Given the description of an element on the screen output the (x, y) to click on. 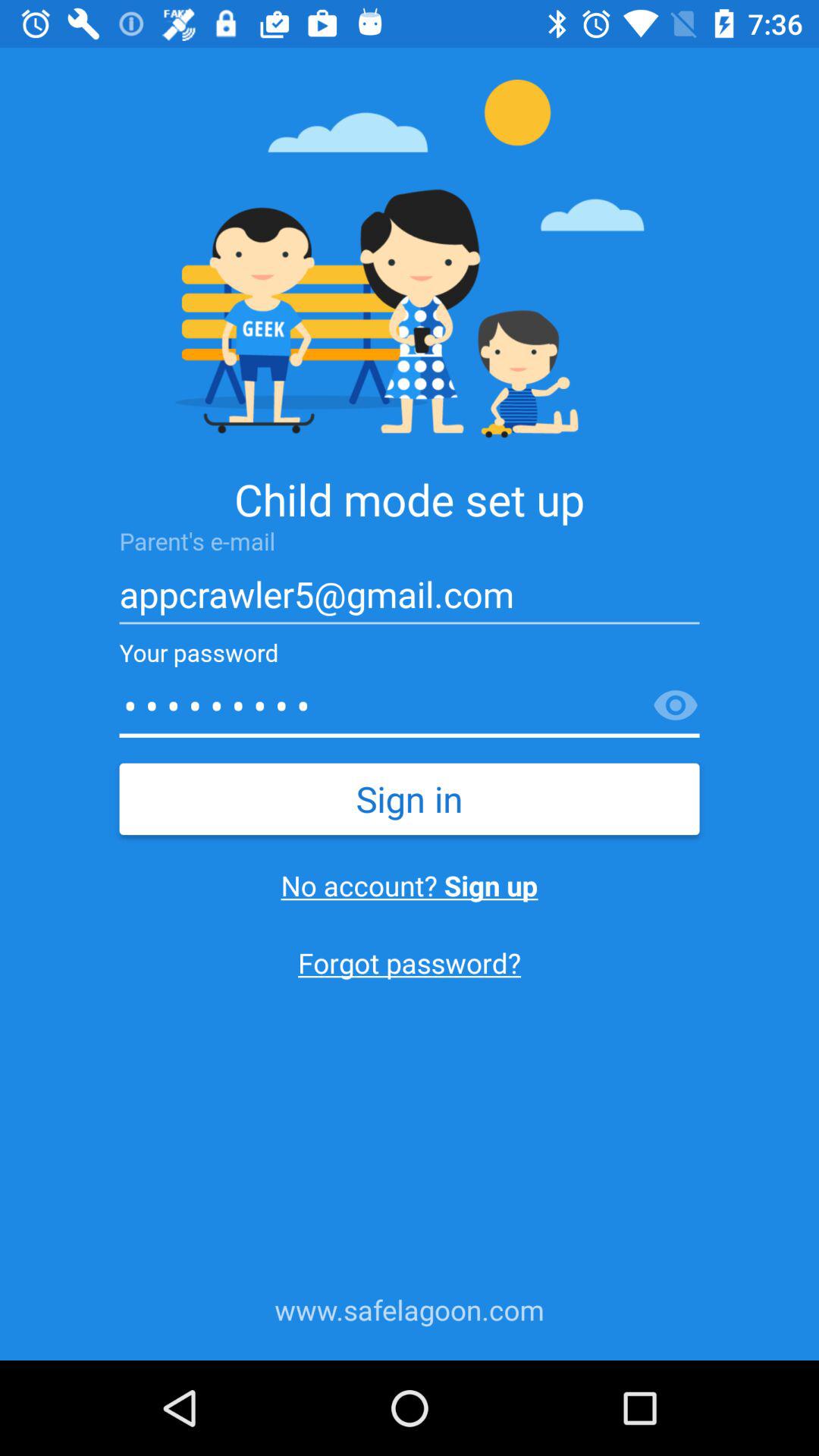
show password (675, 705)
